Given the description of an element on the screen output the (x, y) to click on. 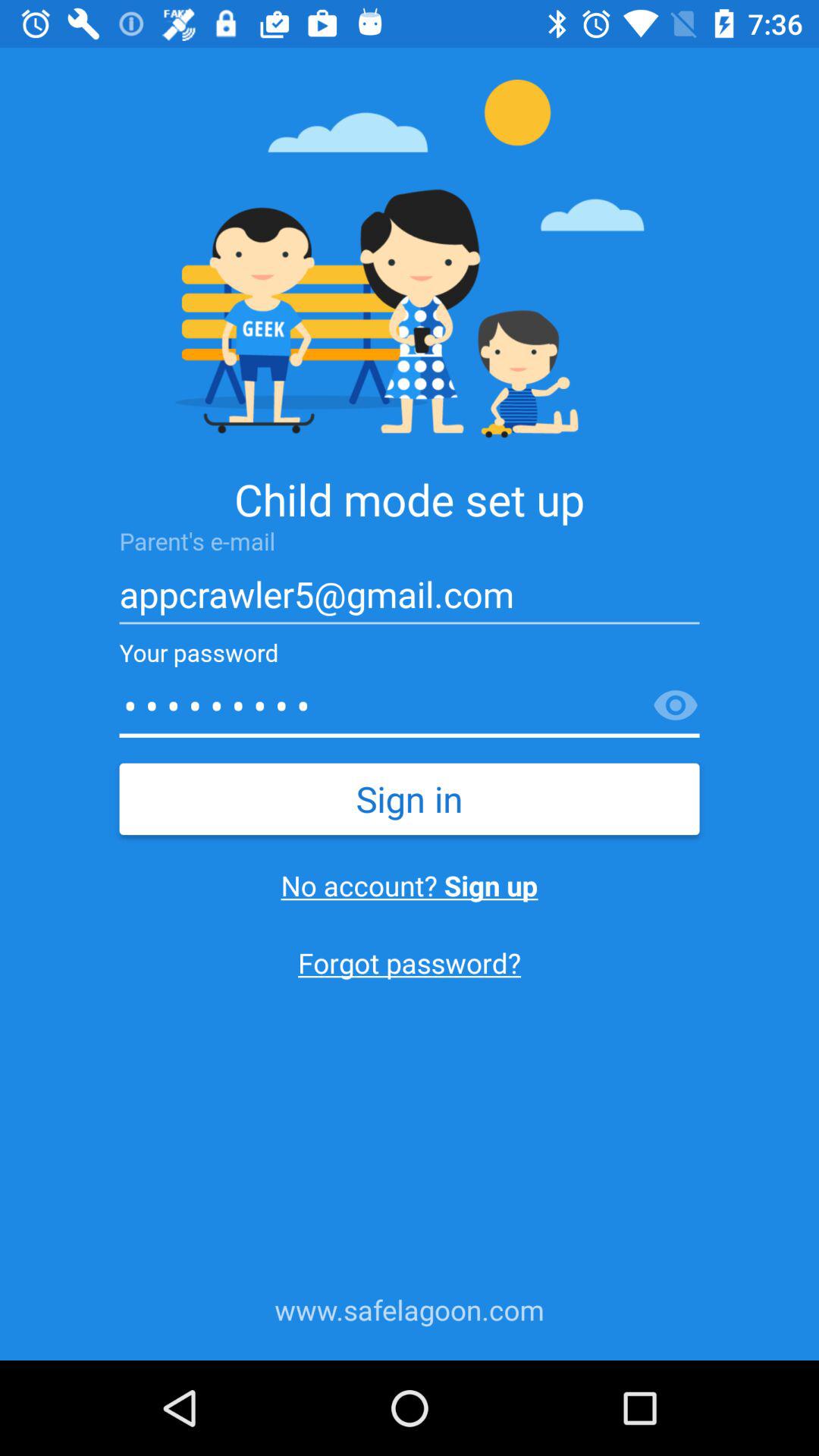
show password (675, 705)
